Given the description of an element on the screen output the (x, y) to click on. 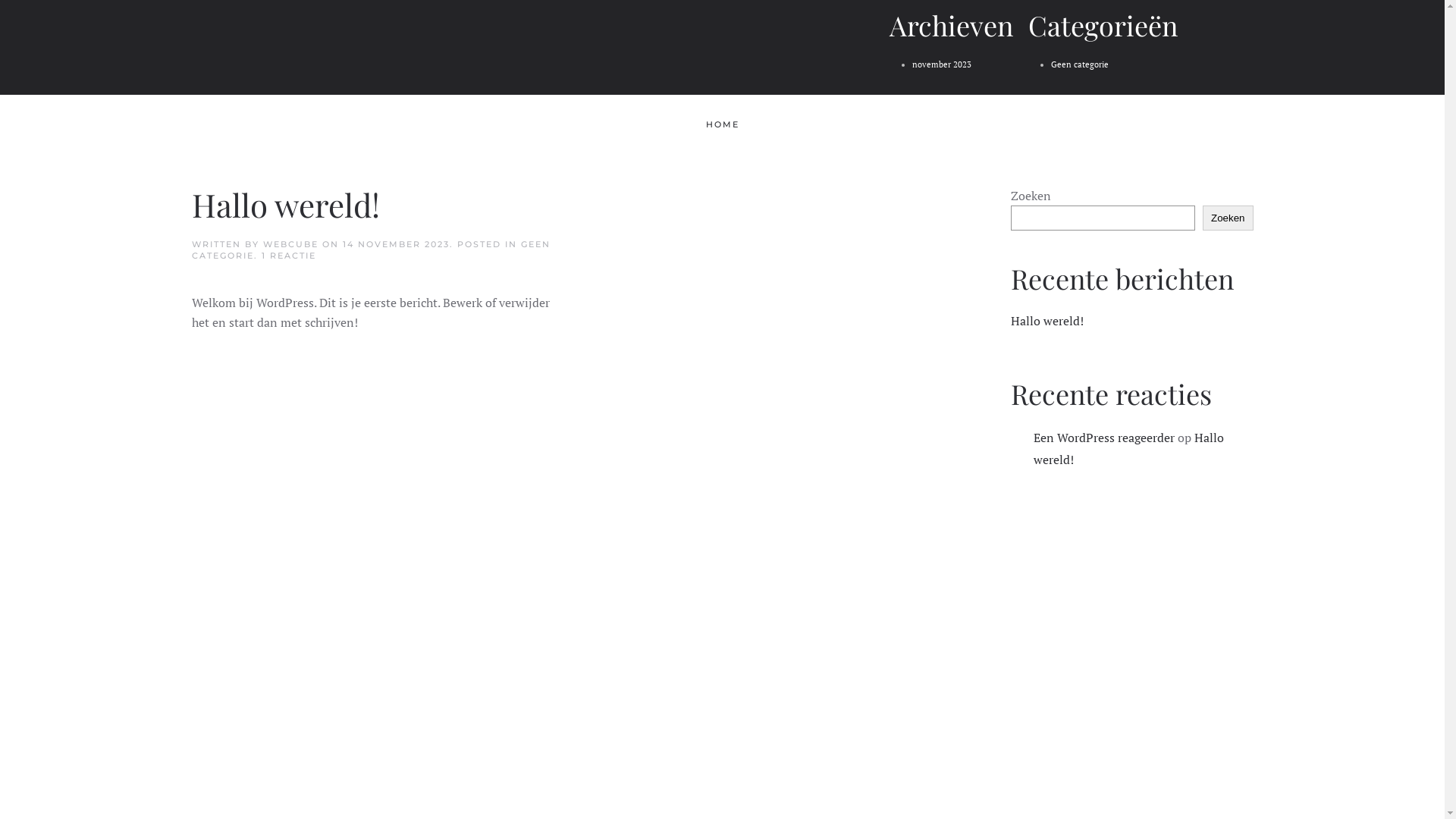
november 2023 Element type: text (940, 64)
HOME Element type: text (721, 124)
Hallo wereld! Element type: text (1127, 448)
Geen categorie Element type: text (1079, 64)
1 REACTIE
OP HALLO WERELD! Element type: text (287, 255)
Hallo wereld! Element type: text (285, 204)
Zoeken Element type: text (1227, 217)
Een WordPress reageerder Element type: text (1102, 437)
WEBCUBE Element type: text (289, 243)
GEEN CATEGORIE Element type: text (370, 249)
Hallo wereld! Element type: text (1046, 320)
